Given the description of an element on the screen output the (x, y) to click on. 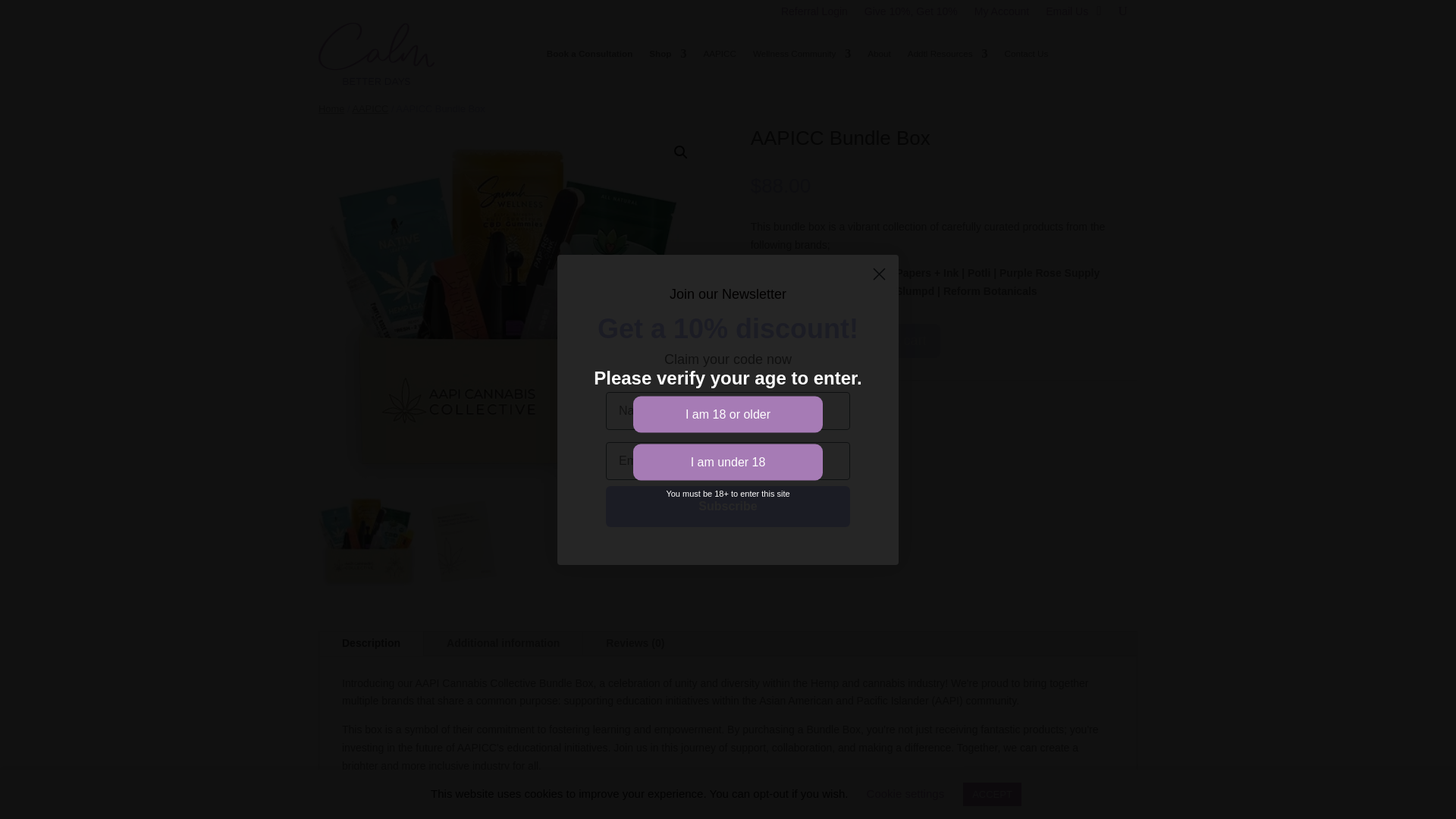
Close dialog 1 (879, 274)
Book a Consultation (589, 53)
I am 18 or older (727, 413)
Qty (812, 336)
Email Us (1066, 13)
My Account (1001, 13)
I am under 18 (727, 462)
1 (812, 336)
Referral Login (813, 13)
